Given the description of an element on the screen output the (x, y) to click on. 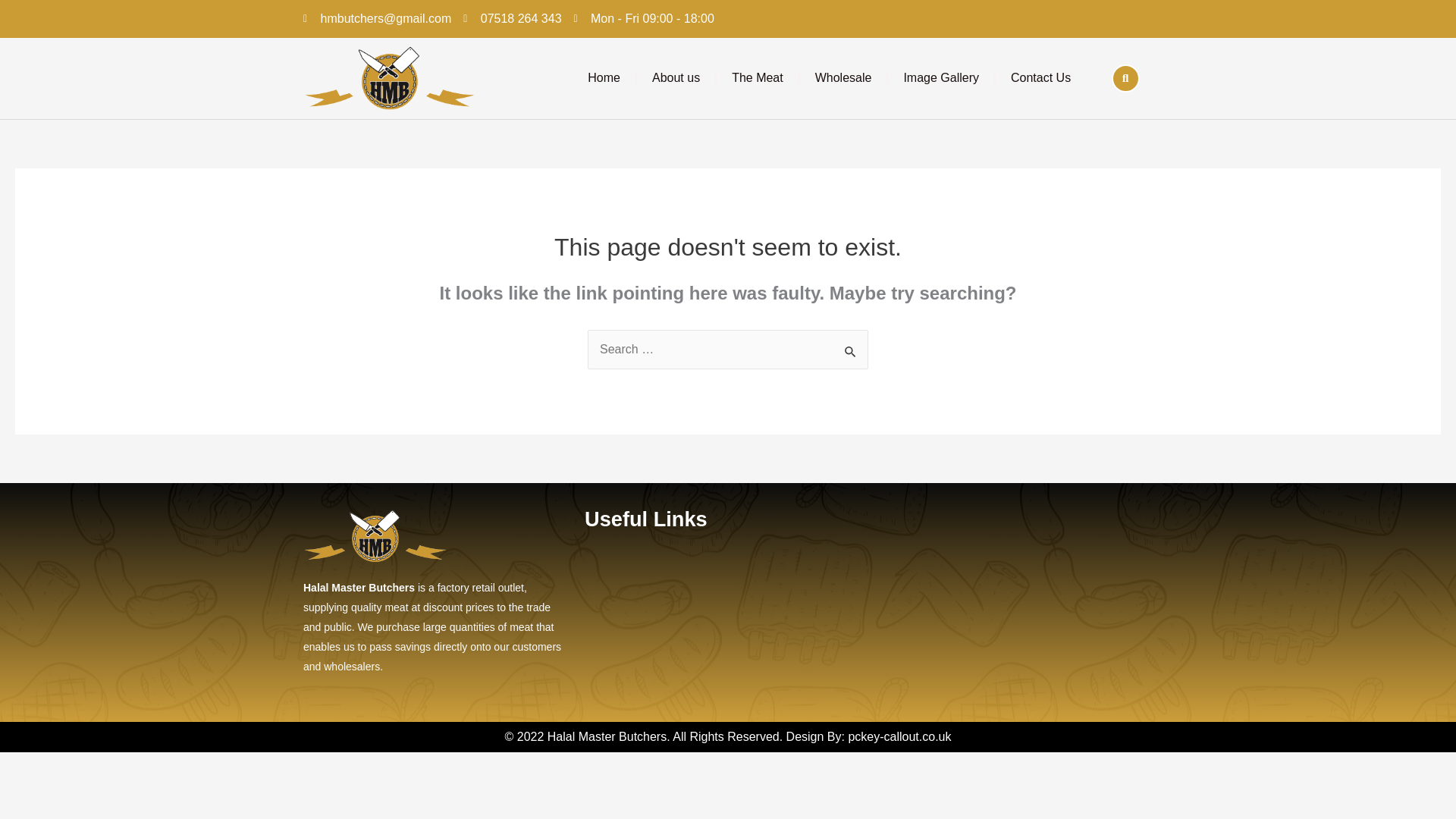
Wholesale (842, 77)
The Meat (756, 77)
About us (675, 77)
Contact Us (1040, 77)
Home (603, 77)
Image Gallery (941, 77)
